Given the description of an element on the screen output the (x, y) to click on. 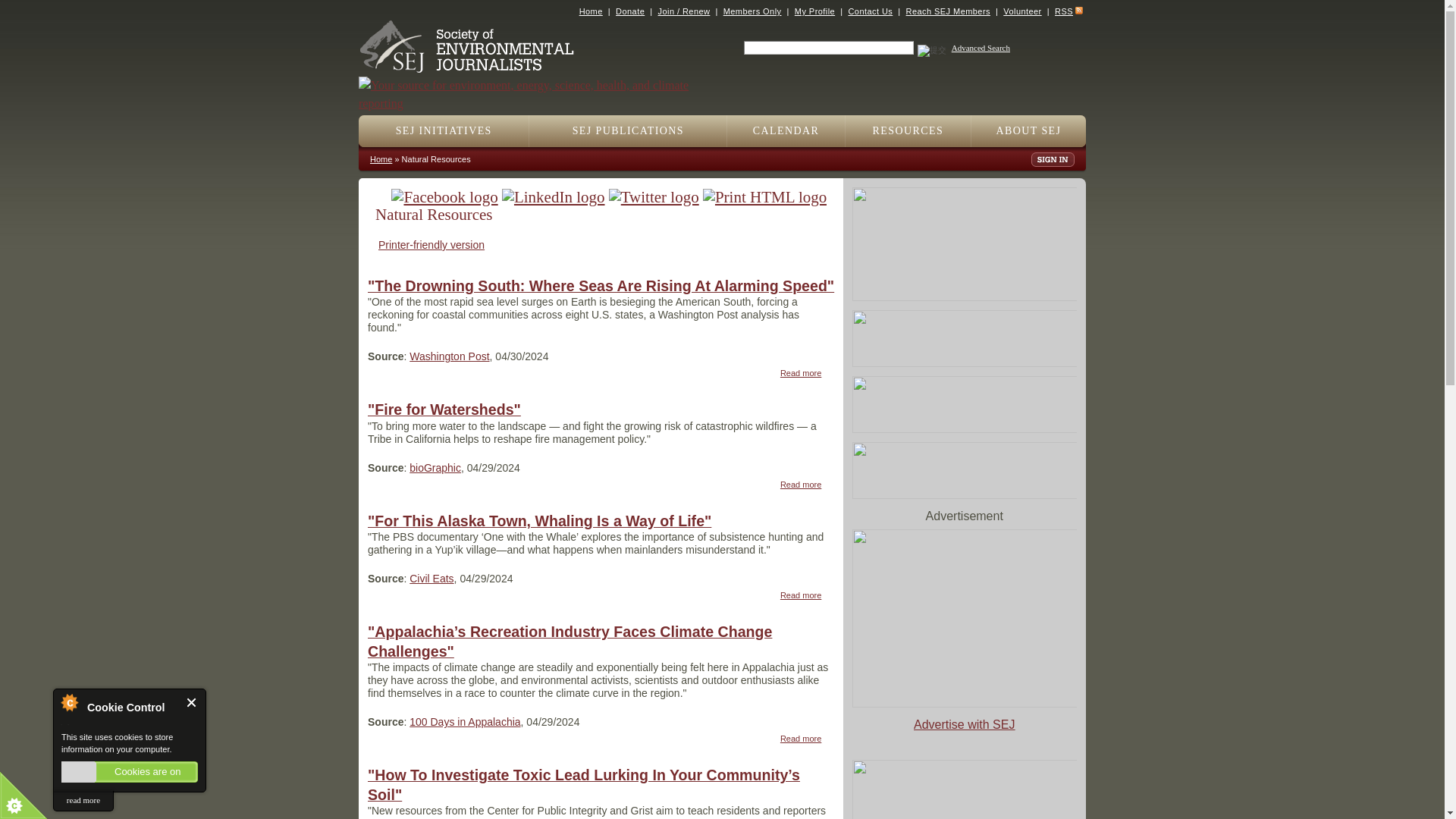
Close (191, 702)
Cookies are on (129, 772)
SEJ PUBLICATIONS (627, 131)
Advanced Search (981, 47)
Home (540, 86)
Contact Us (869, 10)
Members Only (752, 10)
Enter the terms you wish to search for. (829, 47)
RSS (1063, 10)
Home (590, 10)
Donate (630, 10)
My Profile (814, 10)
read more (82, 801)
Volunteer (1022, 10)
Reach SEJ Members (947, 10)
